Given the description of an element on the screen output the (x, y) to click on. 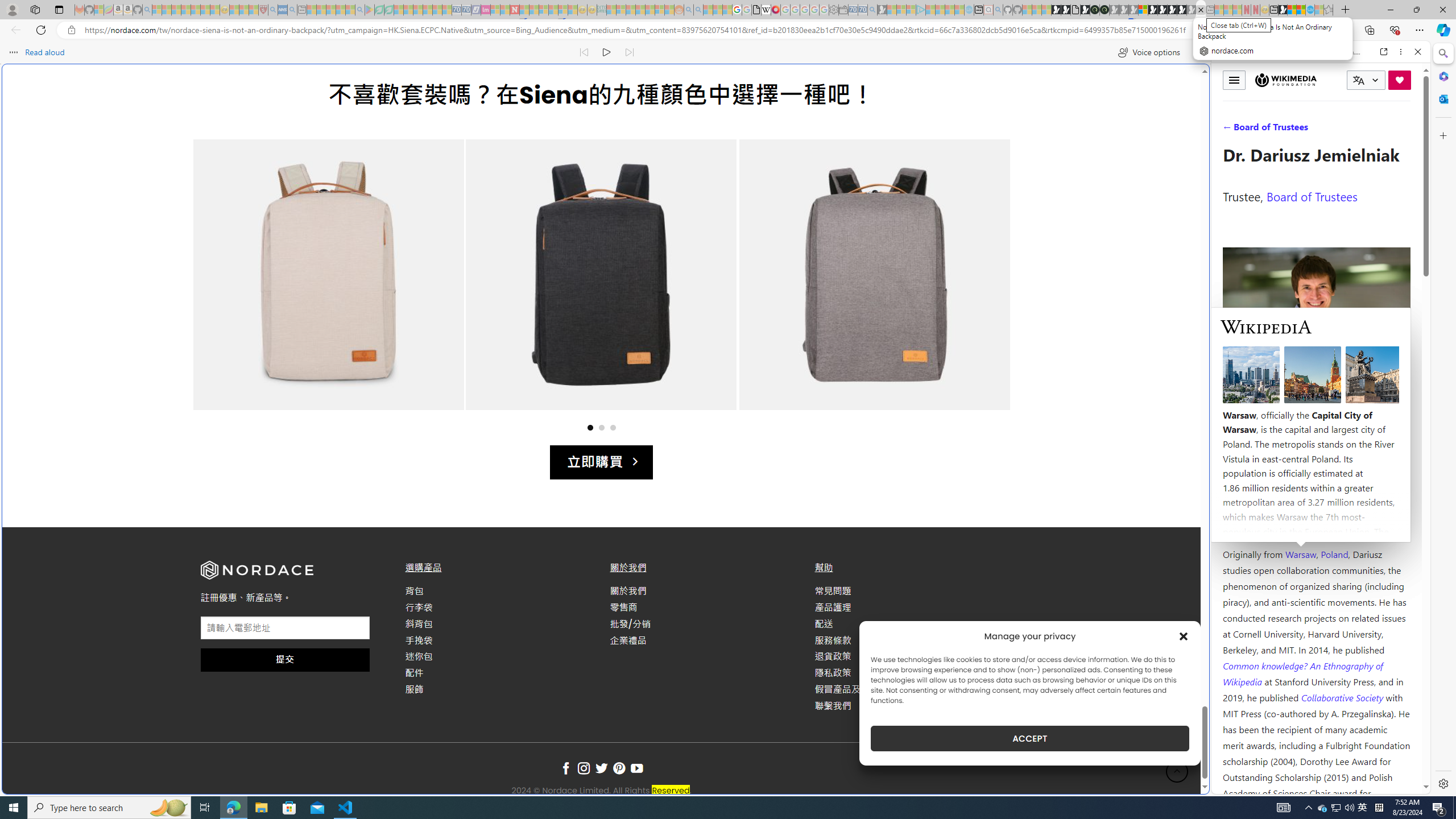
Close read aloud (1196, 52)
Follow on YouTube (636, 768)
